Given the description of an element on the screen output the (x, y) to click on. 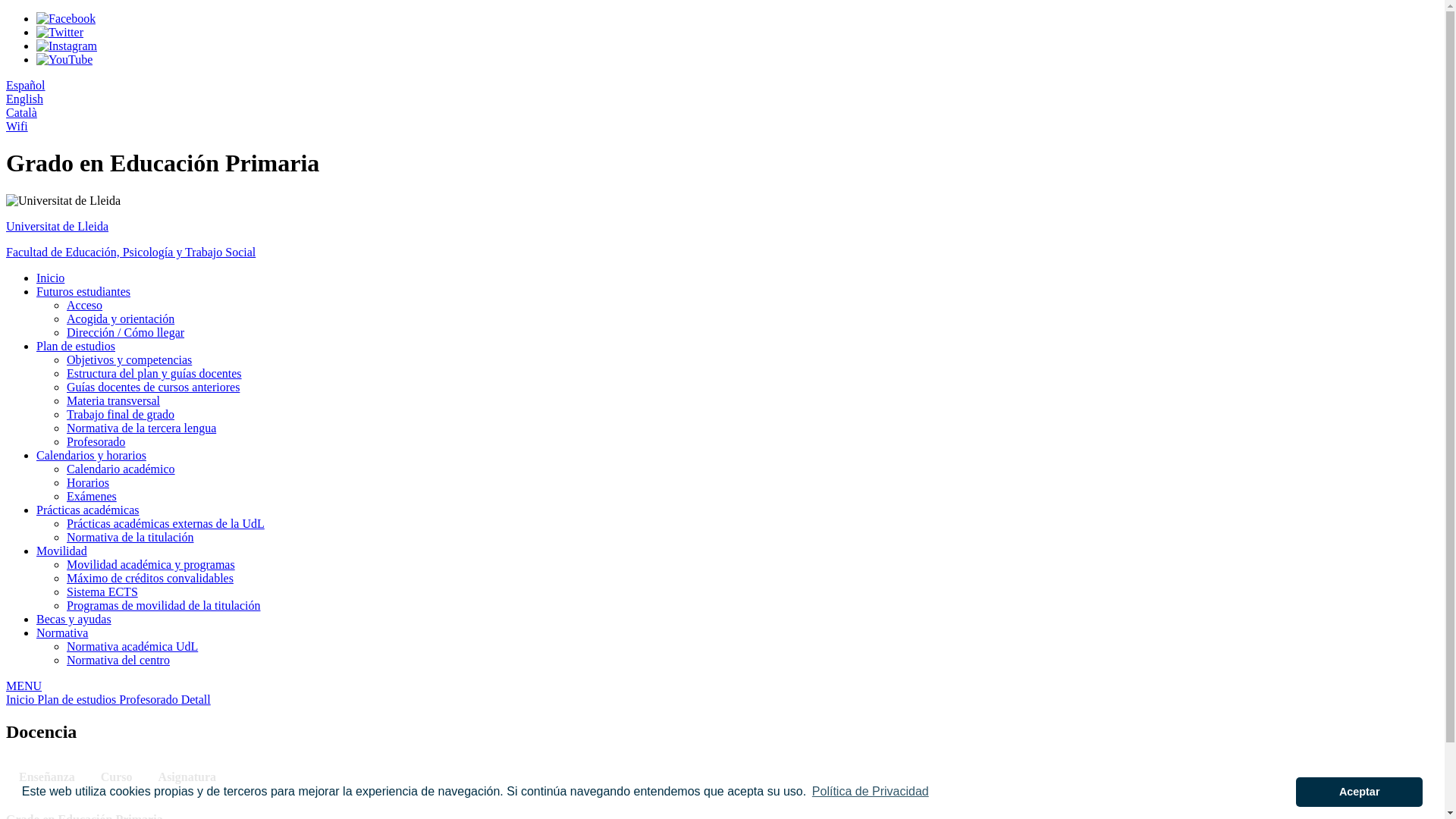
Facebook Element type: hover (65, 18)
English Element type: text (24, 98)
Normativa Element type: text (61, 632)
Normativa de la tercera lengua Element type: text (141, 427)
Movilidad Element type: text (61, 550)
Sistema ECTS Element type: text (102, 591)
Profesorado Element type: text (149, 699)
Normativa del centro Element type: text (117, 659)
Materia transversal Element type: text (113, 400)
Horarios Element type: text (87, 482)
Profesorado Element type: text (95, 441)
Plan de estudios Element type: text (75, 345)
Trabajo final de grado Element type: text (120, 413)
Instagram Element type: hover (66, 45)
Inicio Element type: text (50, 277)
Wifi Element type: text (17, 125)
Futuros estudiantes Element type: text (83, 291)
Becas y ayudas Element type: text (73, 618)
Aceptar Element type: text (1358, 791)
Inicio Element type: text (21, 699)
YouTube Element type: hover (64, 59)
Objetivos y competencias Element type: text (128, 359)
Twitter Element type: hover (59, 31)
Calendarios y horarios Element type: text (91, 454)
MENU Element type: text (722, 686)
Plan de estudios Element type: text (78, 699)
Detall Element type: text (195, 699)
Acceso Element type: text (84, 304)
